Given the description of an element on the screen output the (x, y) to click on. 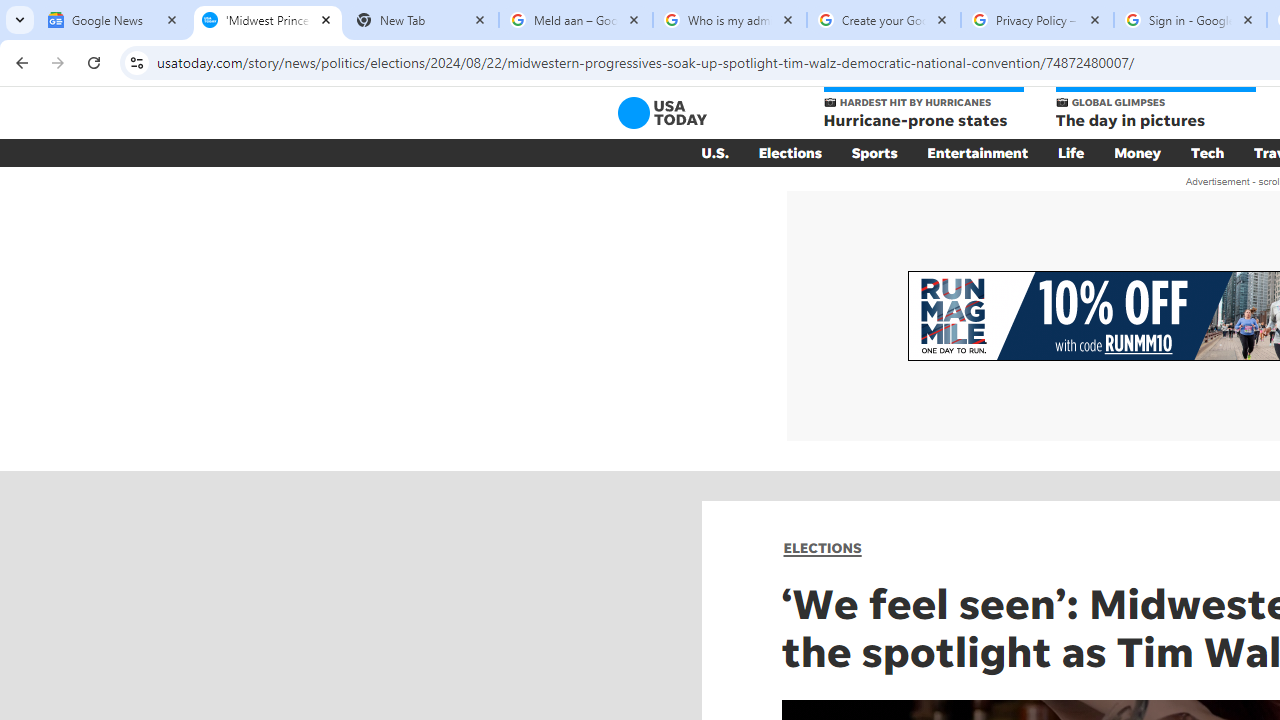
New Tab (421, 20)
Life (1071, 152)
Who is my administrator? - Google Account Help (729, 20)
USA TODAY (661, 112)
Tech (1207, 152)
Sports (873, 152)
Money (1137, 152)
